Given the description of an element on the screen output the (x, y) to click on. 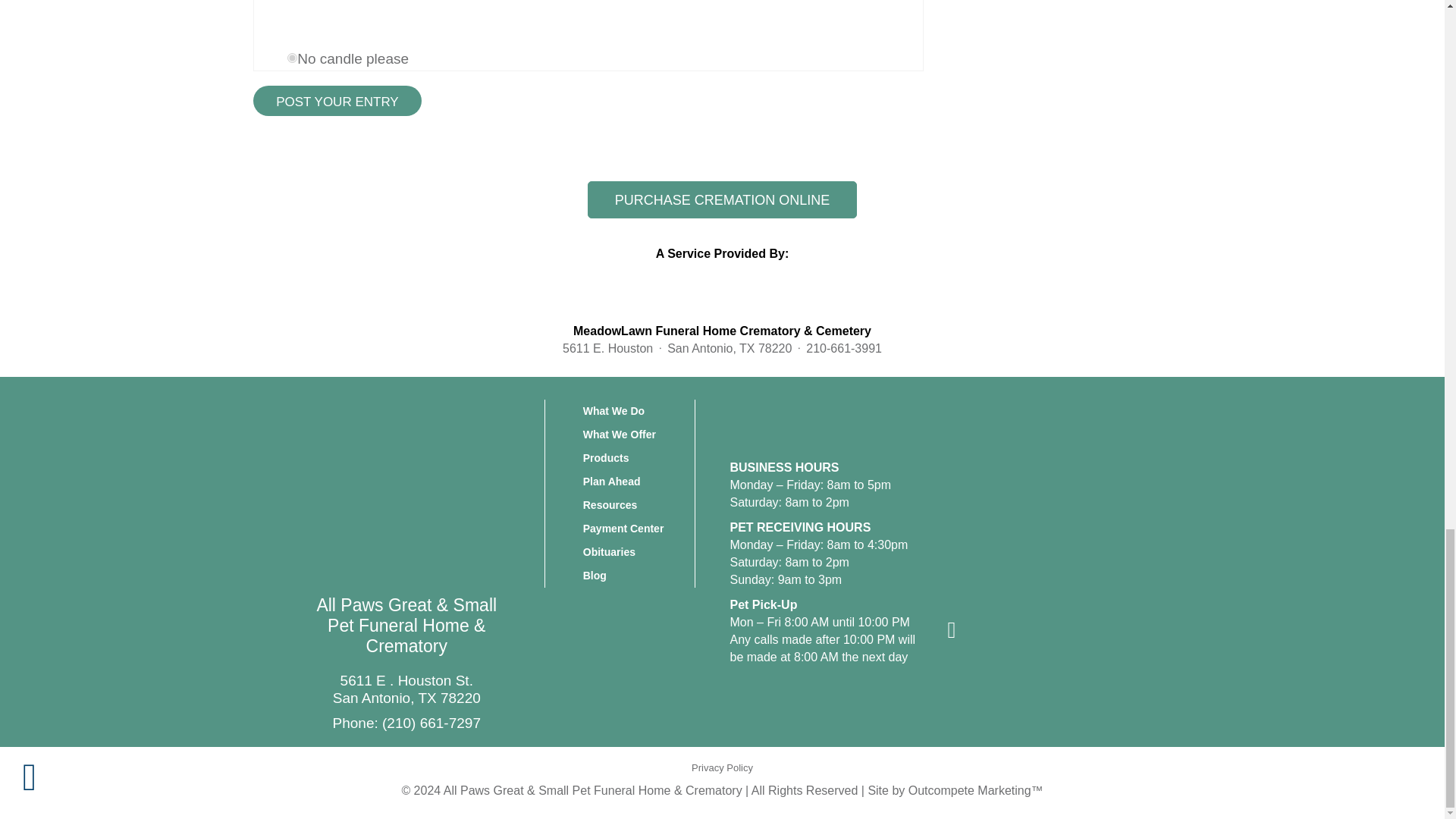
Post Your Entry (337, 101)
